Given the description of an element on the screen output the (x, y) to click on. 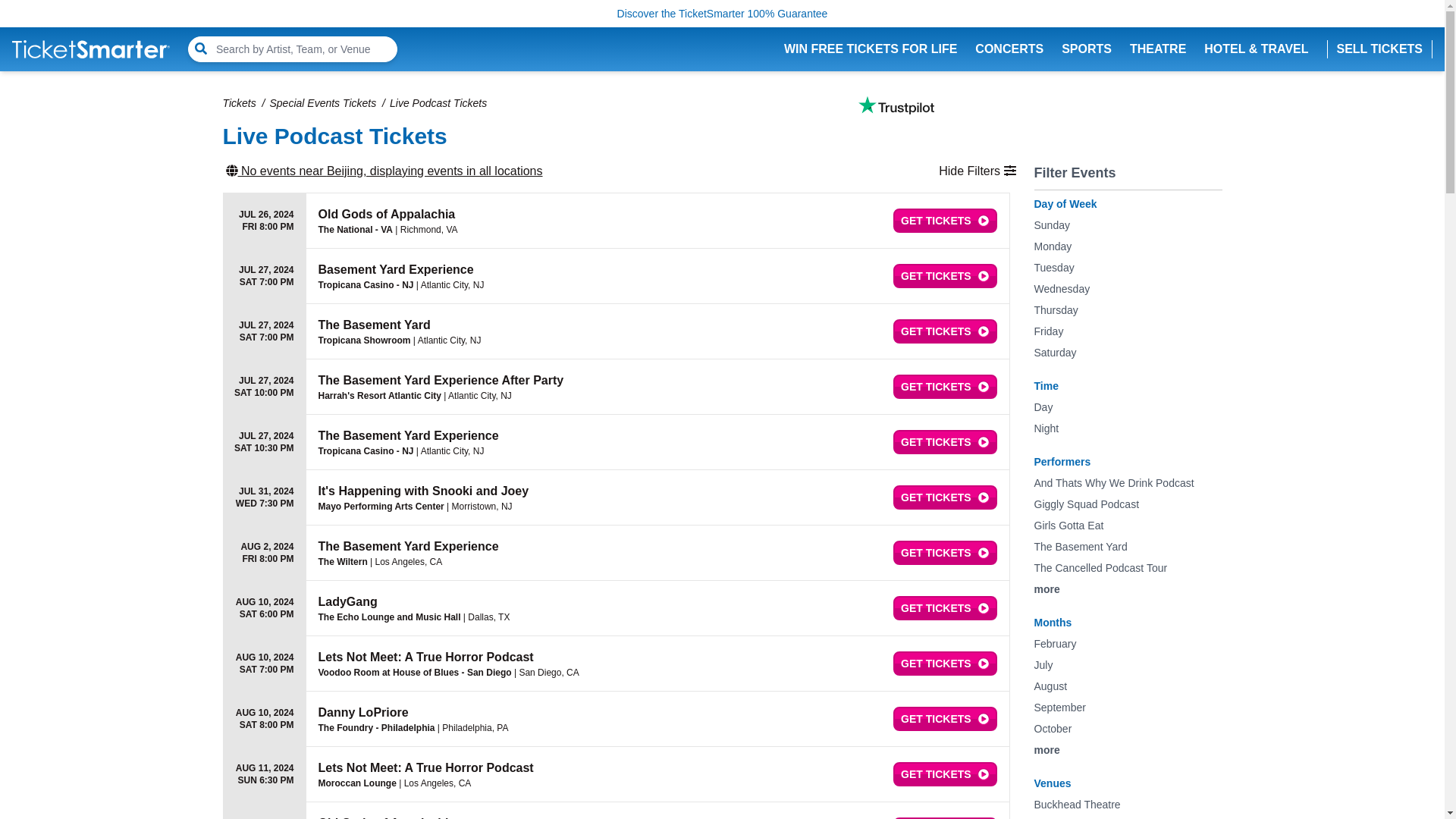
CONCERTS (1009, 49)
WIN FREE TICKETS FOR LIFE (870, 49)
Special Events Tickets (323, 102)
Customer reviews powered by Trustpilot (896, 104)
Tickets (239, 102)
